Given the description of an element on the screen output the (x, y) to click on. 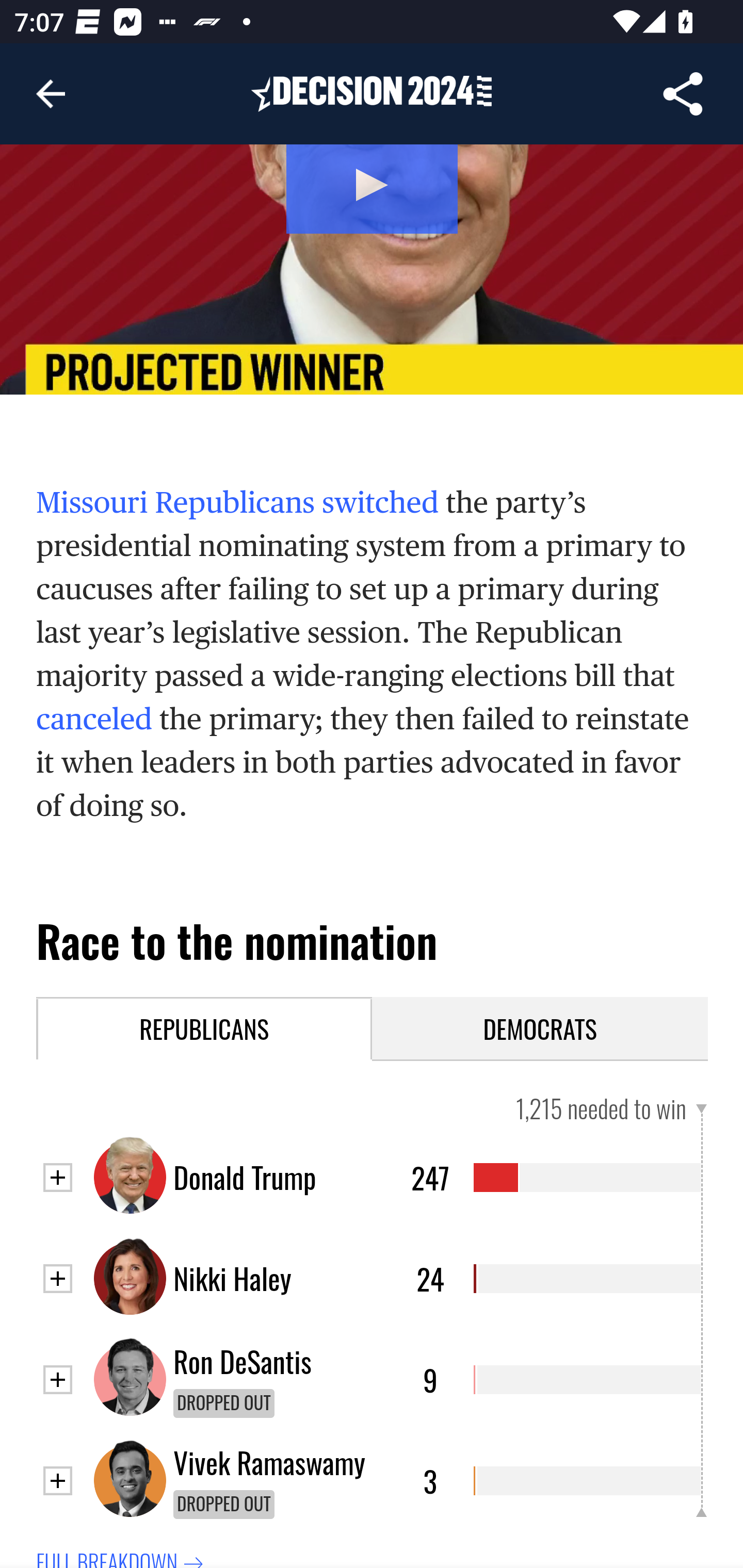
Navigate up (50, 93)
Share Article, button (683, 94)
Header, Decision 2024 (371, 93)
Play (371, 270)
Play (372, 184)
Missouri Republicans switched (238, 504)
canceled (94, 720)
REPUBLICANS (204, 1030)
DEMOCRATS (540, 1030)
FULL BREAKDOWN (121, 1557)
